Given the description of an element on the screen output the (x, y) to click on. 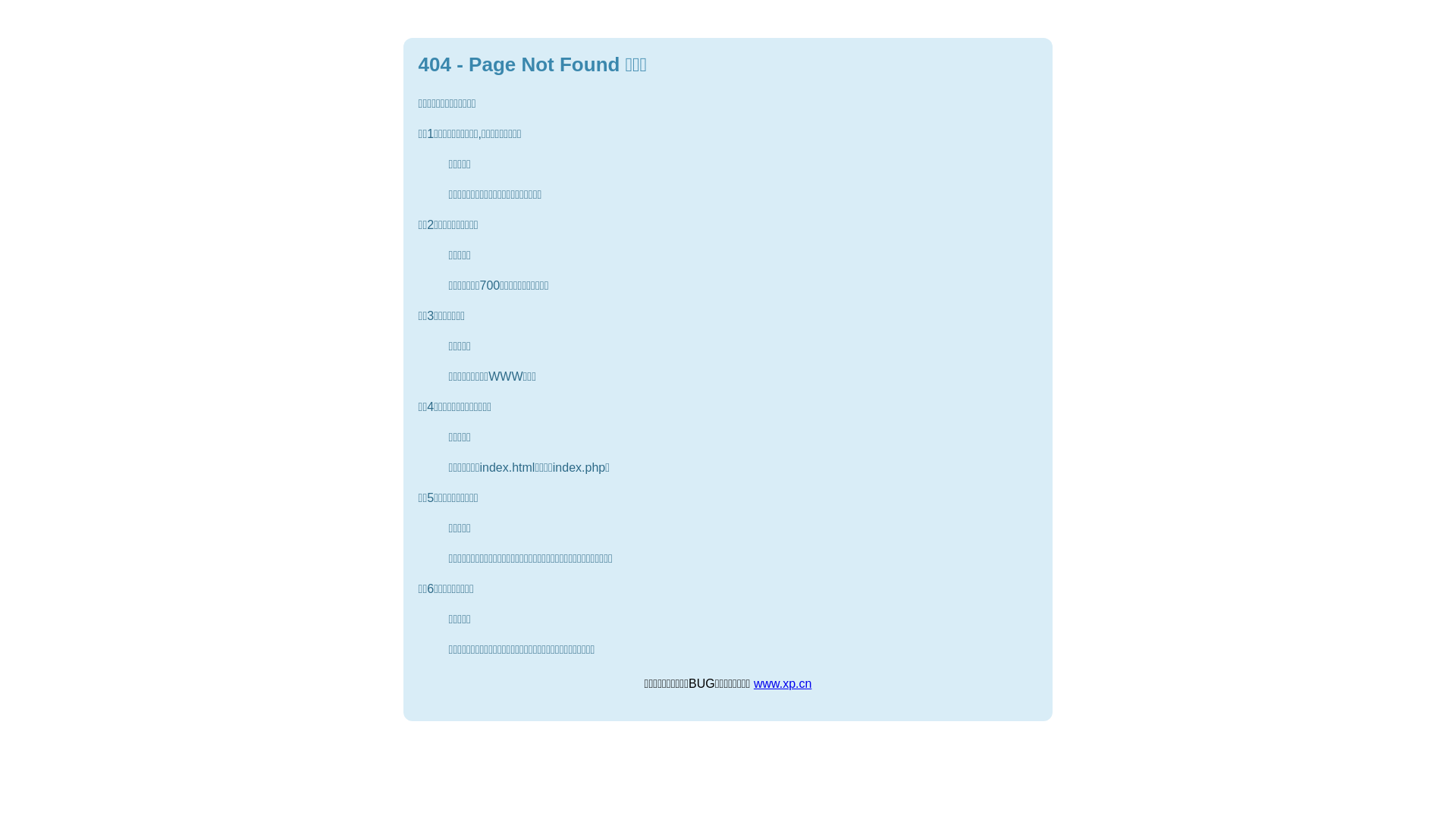
www.xp.cn Element type: text (782, 683)
